Given the description of an element on the screen output the (x, y) to click on. 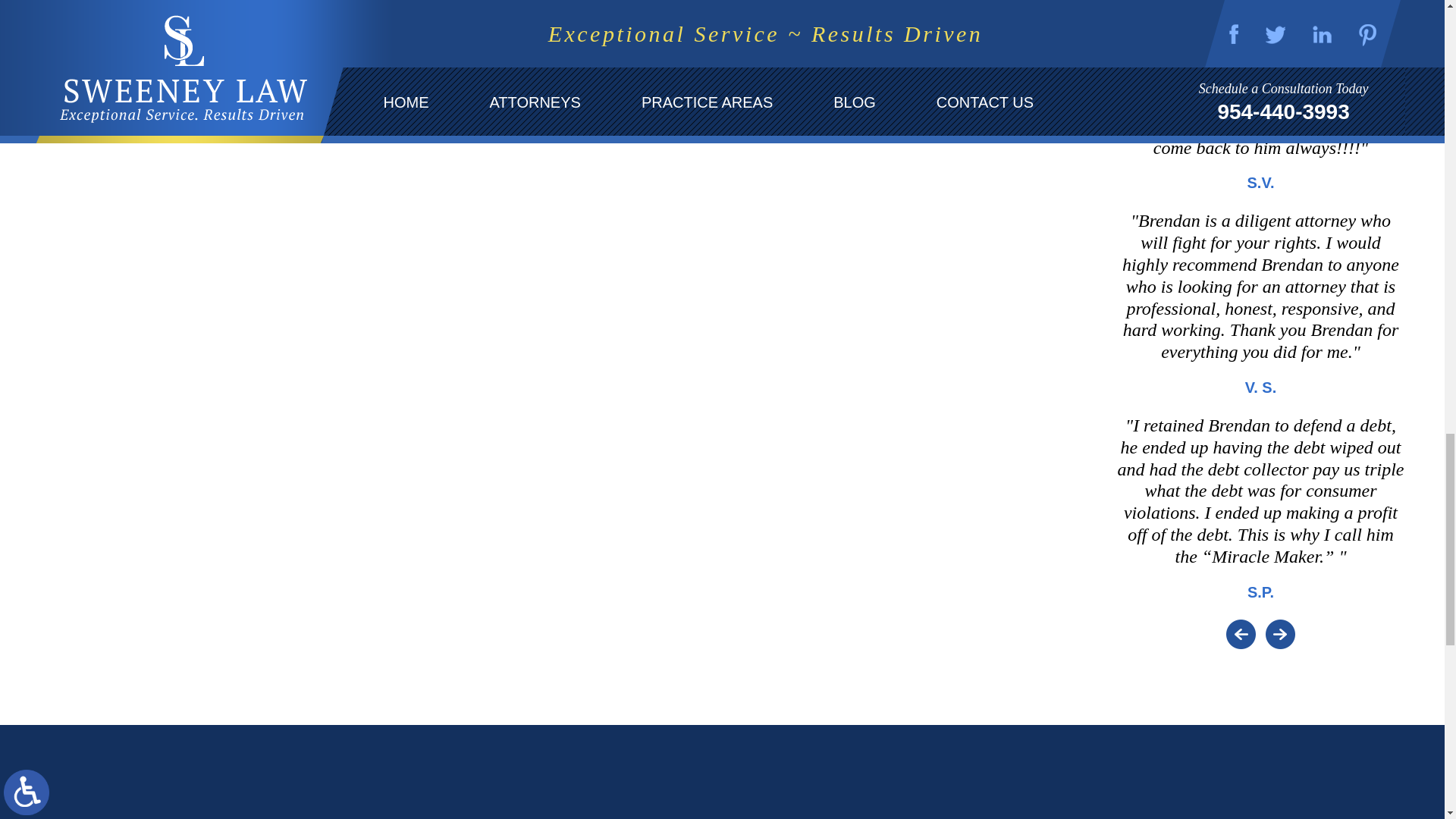
previous (1284, 634)
next (1295, 634)
